Given the description of an element on the screen output the (x, y) to click on. 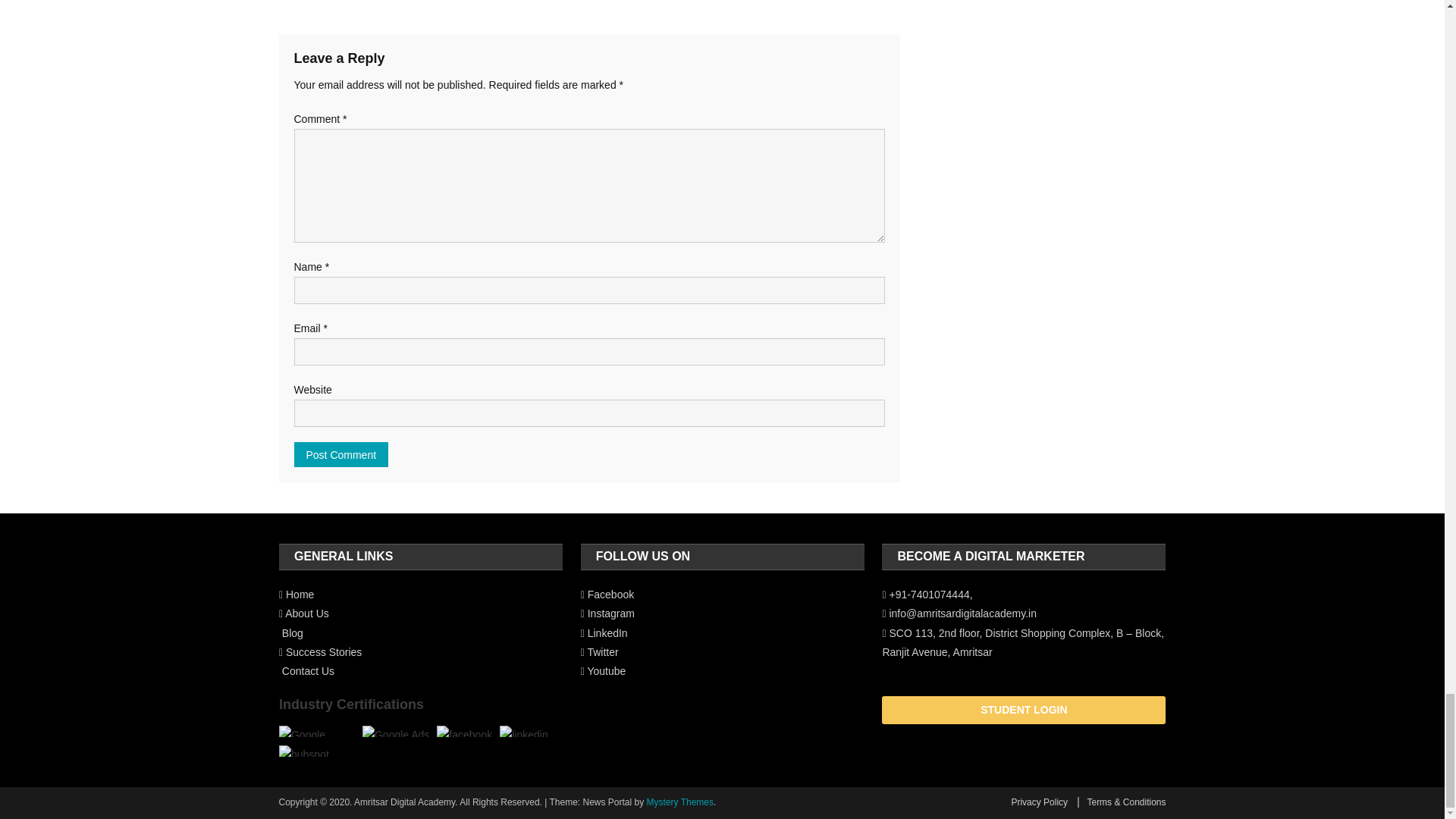
March 24, 2020 (528, 1)
Alisha Gupta (381, 2)
April 6, 2020 (310, 2)
Dilpreet Kaur (604, 1)
Post Comment (341, 454)
